Given the description of an element on the screen output the (x, y) to click on. 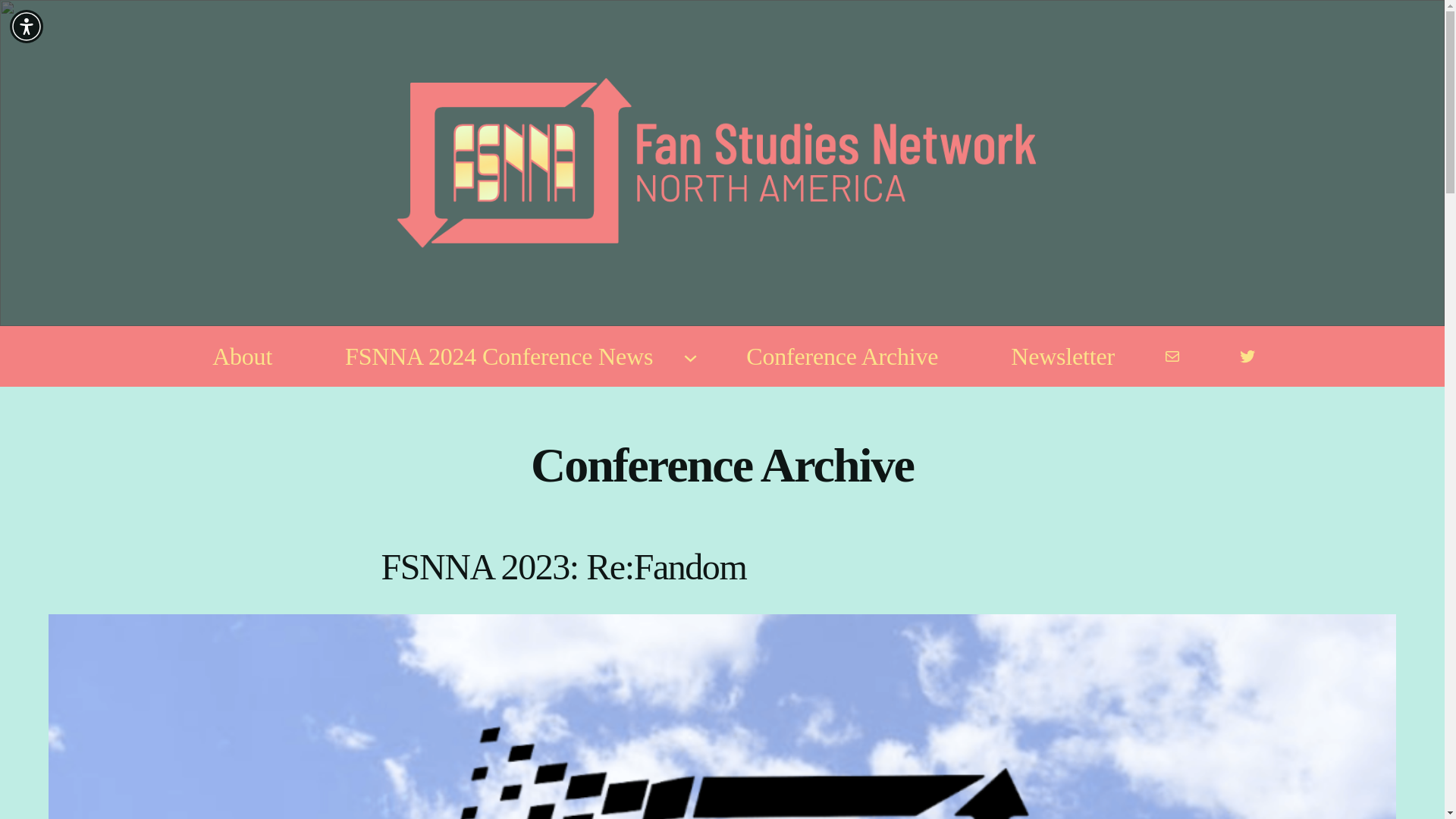
FSNNA 2024 Conference News (498, 355)
About (242, 355)
Newsletter (1062, 355)
Conference Archive (842, 355)
Accessibility Menu (26, 26)
Twitter (1247, 356)
Mail (1171, 356)
